Given the description of an element on the screen output the (x, y) to click on. 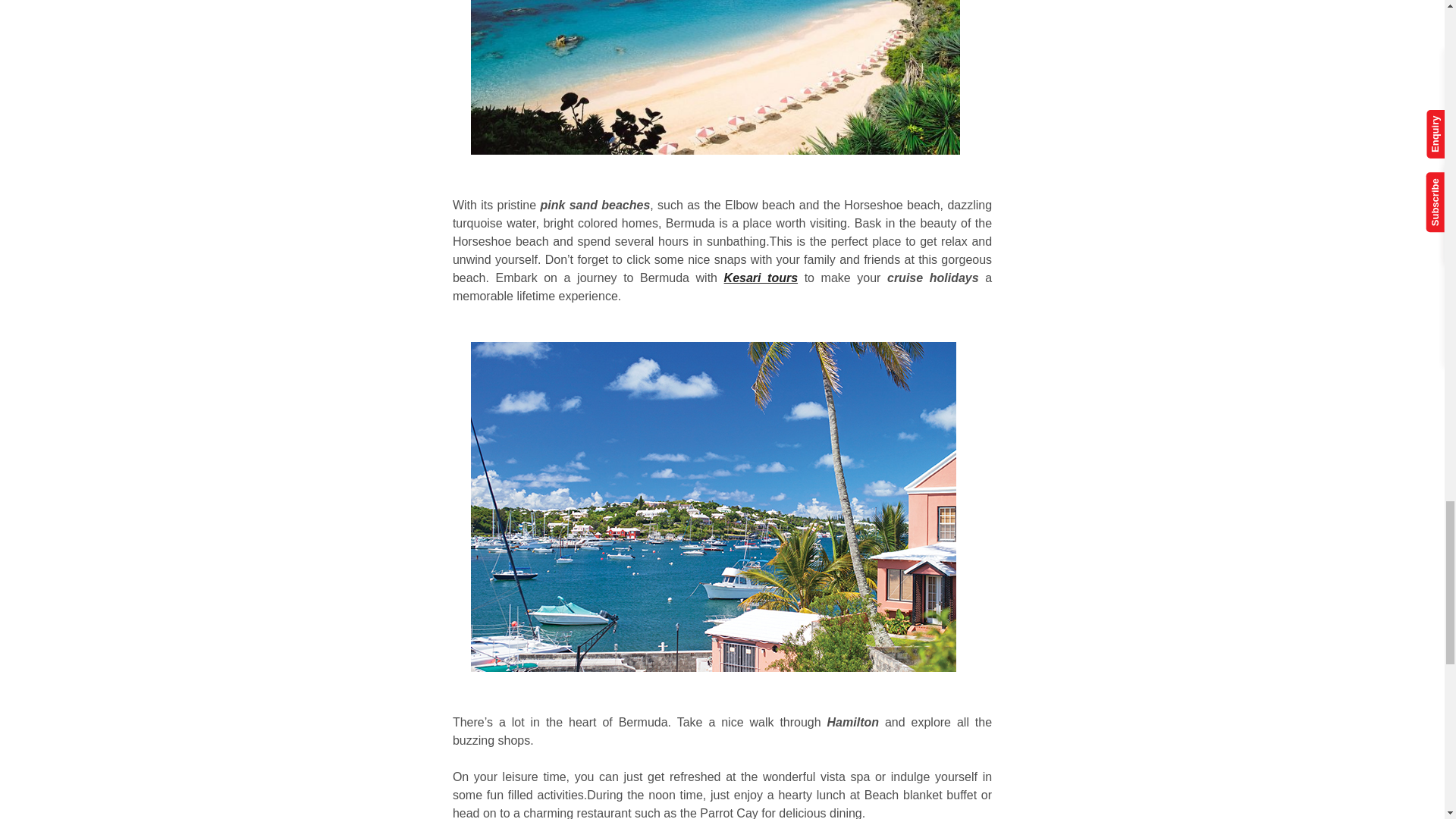
Kesari tours (760, 277)
